Given the description of an element on the screen output the (x, y) to click on. 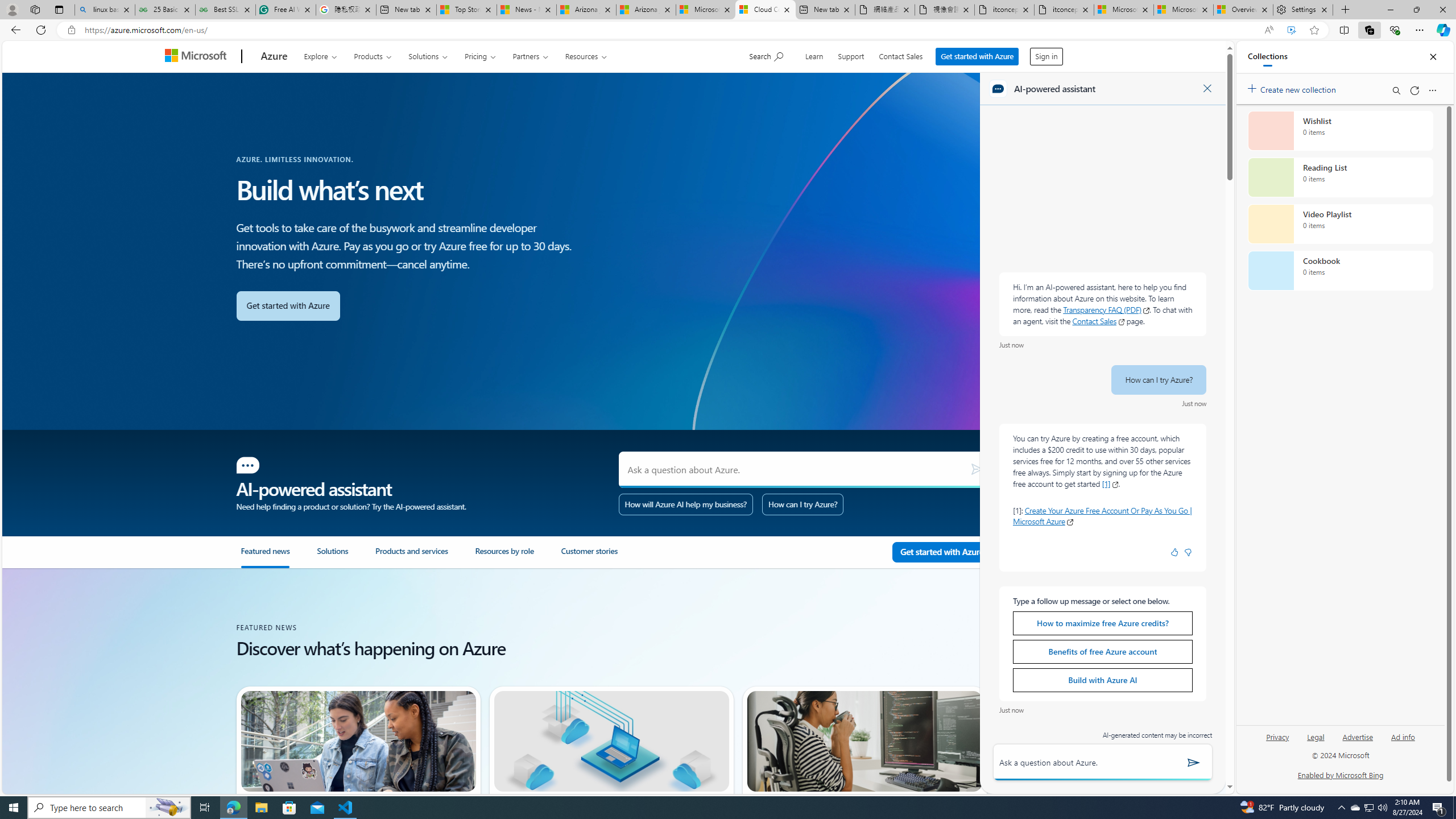
Legal (1315, 736)
Best SSL Certificates Provider in India - GeeksforGeeks (225, 9)
Privacy (1278, 736)
